Given the description of an element on the screen output the (x, y) to click on. 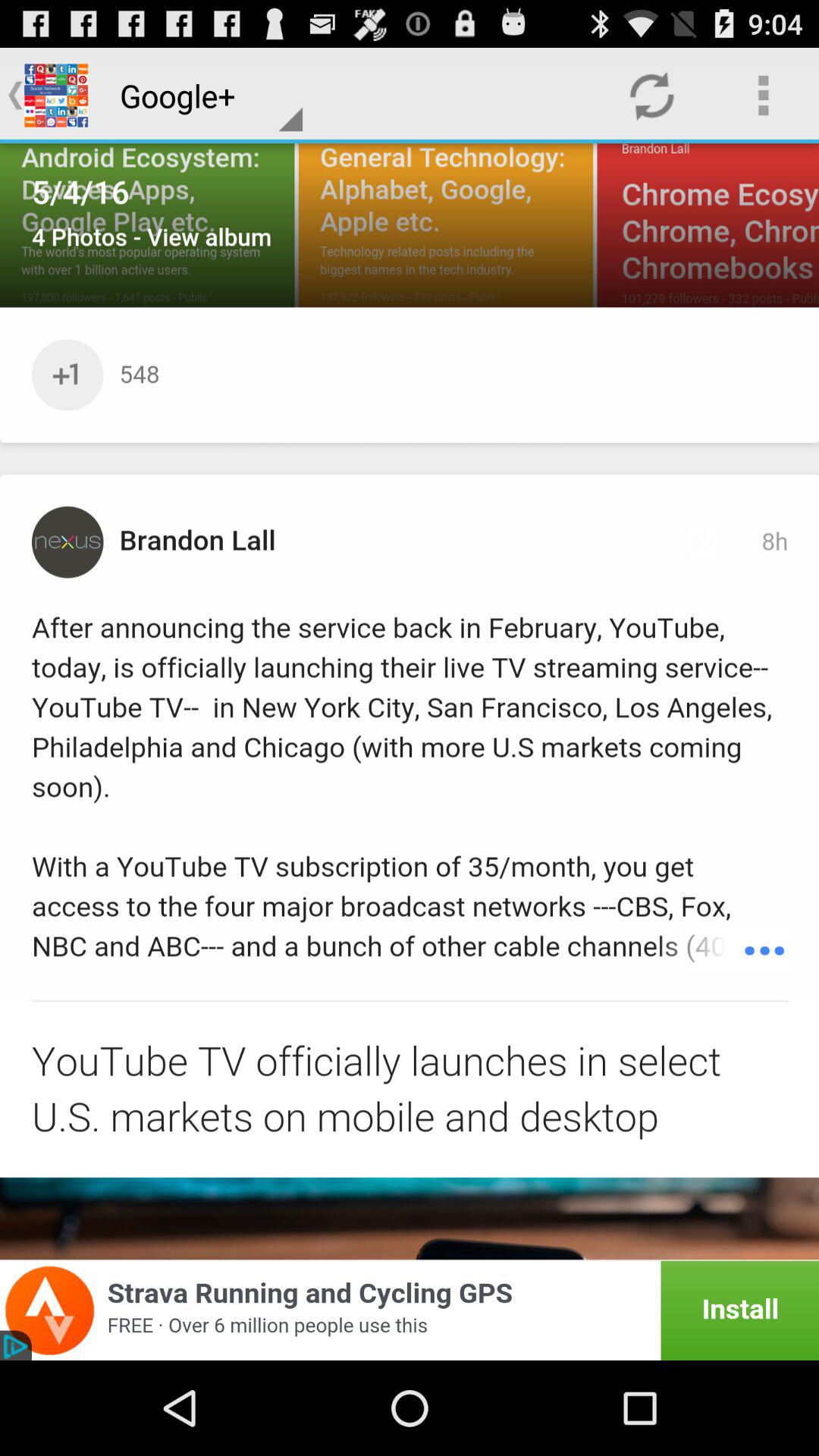
opens advertisement (409, 1310)
